Given the description of an element on the screen output the (x, y) to click on. 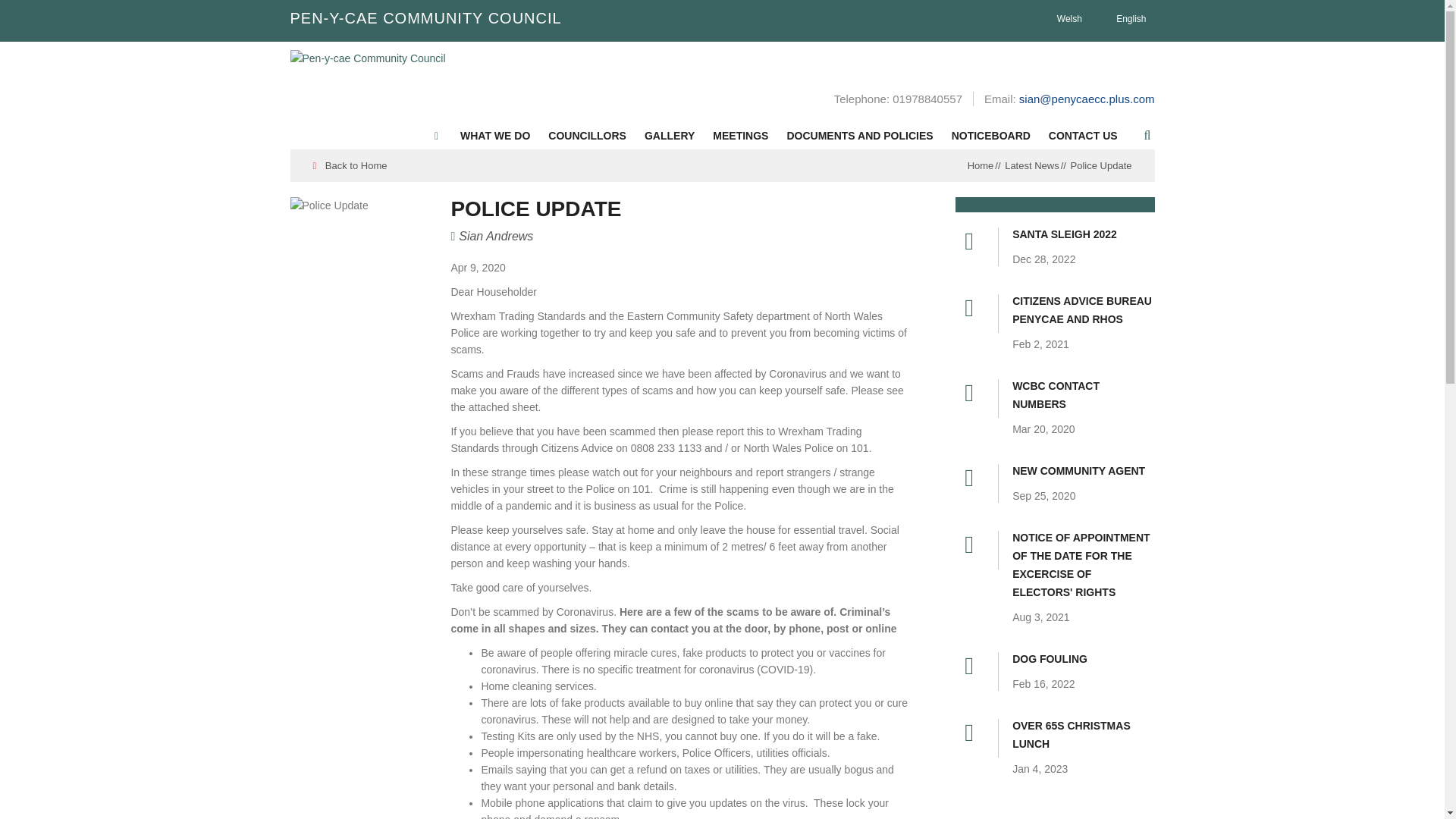
CONTACT US (1082, 135)
CITIZENS ADVICE BUREAU PENYCAE AND RHOS (1082, 313)
NOTICEBOARD (990, 135)
English (1123, 18)
OVER 65S CHRISTMAS LUNCH (1082, 738)
WCBC CONTACT NUMBERS (1082, 398)
What we do (494, 135)
Welsh (1061, 18)
Pen-y-cae Community Council (367, 57)
GALLERY (668, 135)
Latest News (1031, 165)
WCBC Contact numbers (1082, 398)
Documents and Policies (859, 135)
Meetings (740, 135)
